Given the description of an element on the screen output the (x, y) to click on. 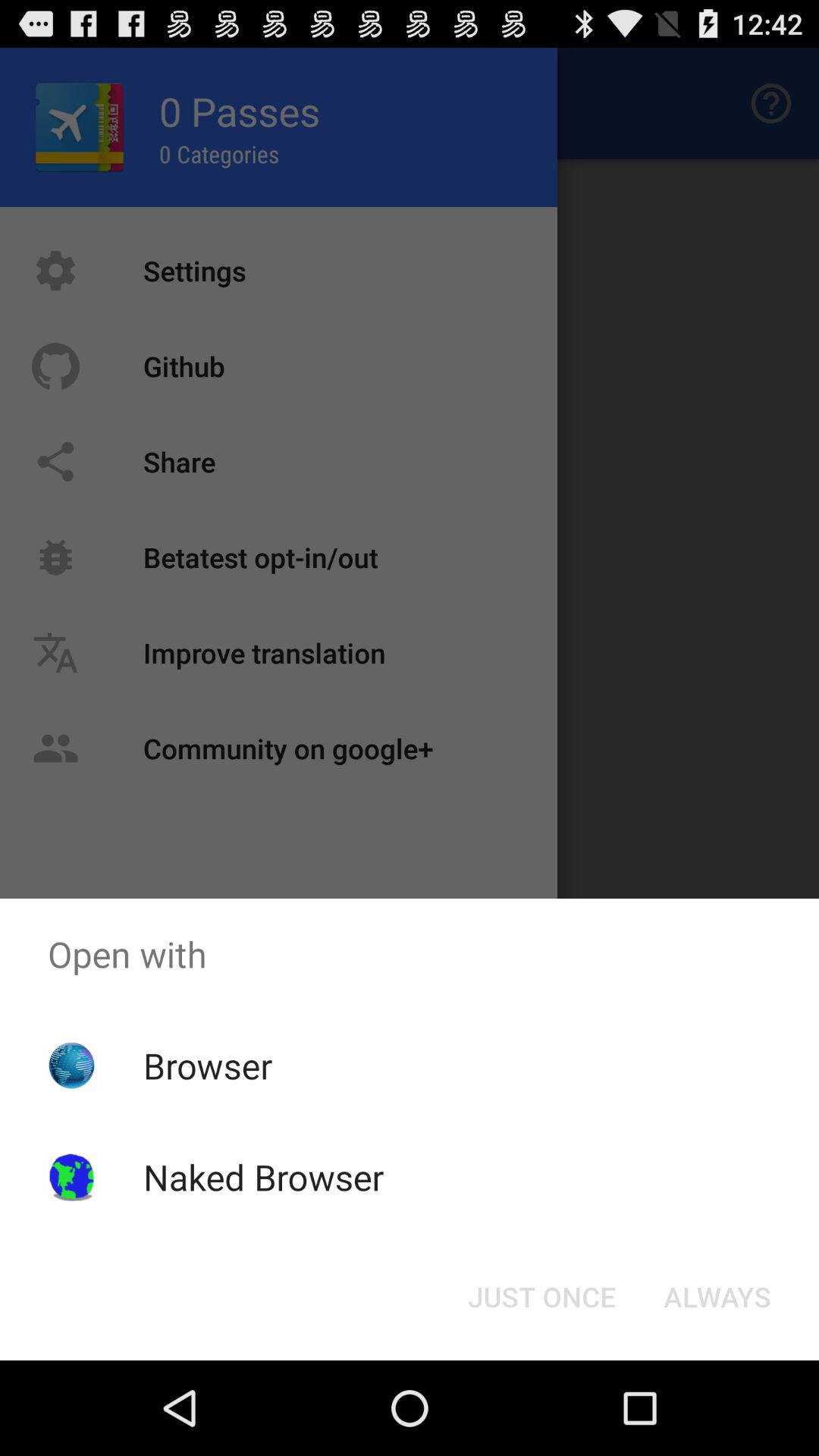
launch the icon below the open with app (717, 1296)
